Given the description of an element on the screen output the (x, y) to click on. 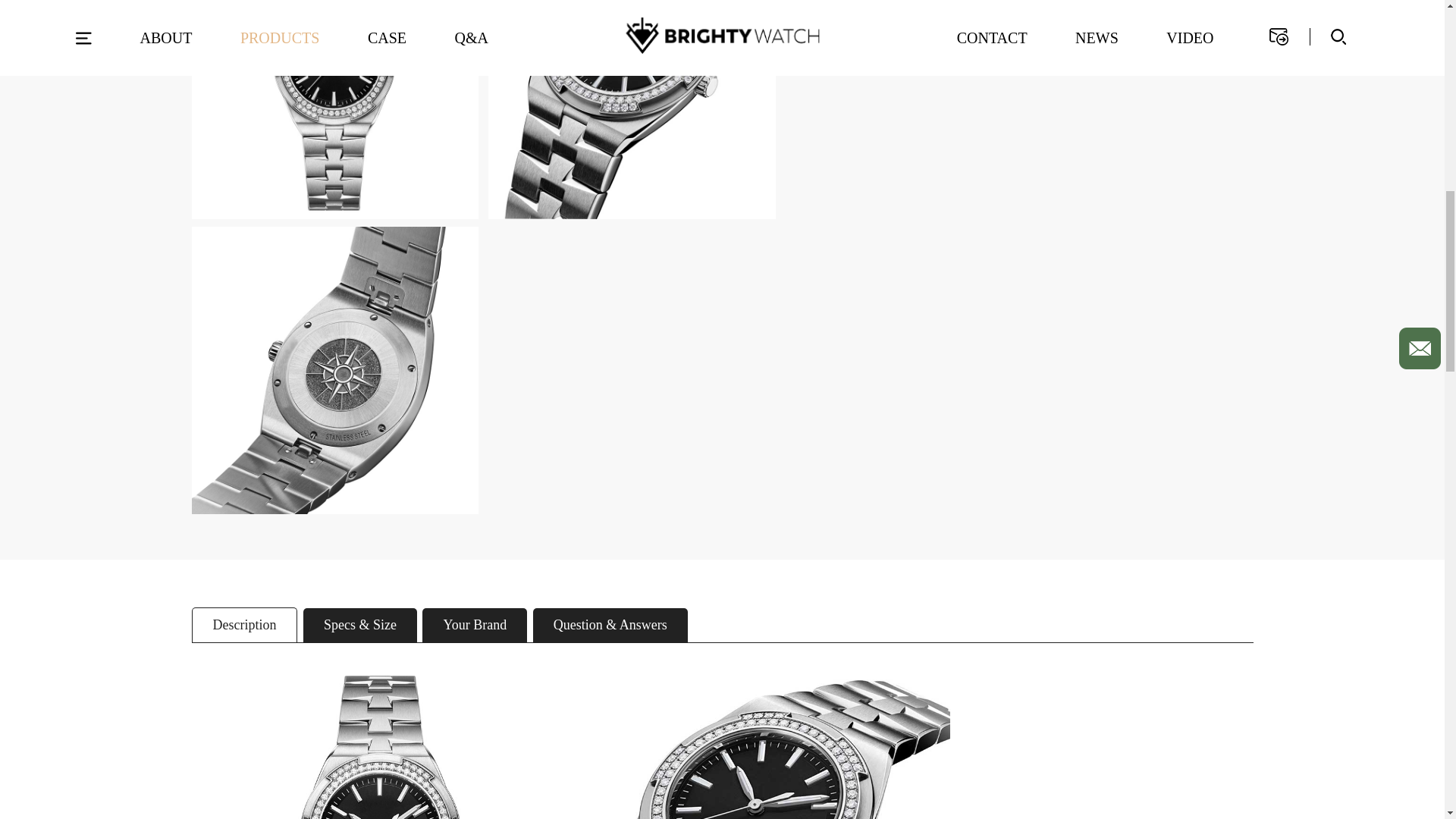
Your Brand (474, 625)
Description (243, 624)
